Given the description of an element on the screen output the (x, y) to click on. 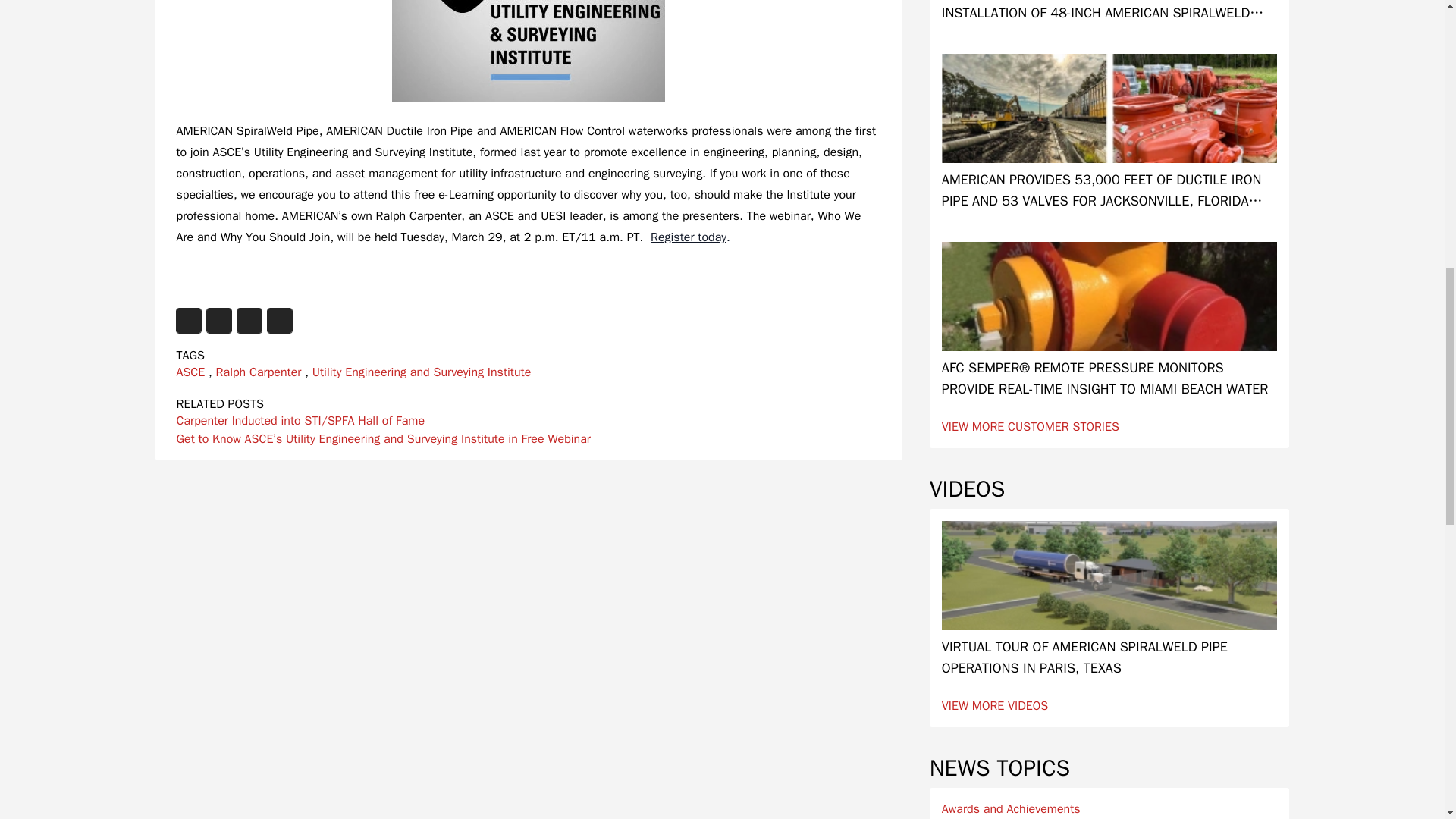
Share on LinkedIn (247, 320)
Share via Email (278, 320)
Share on X (218, 320)
Share on Facebook (188, 320)
